Given the description of an element on the screen output the (x, y) to click on. 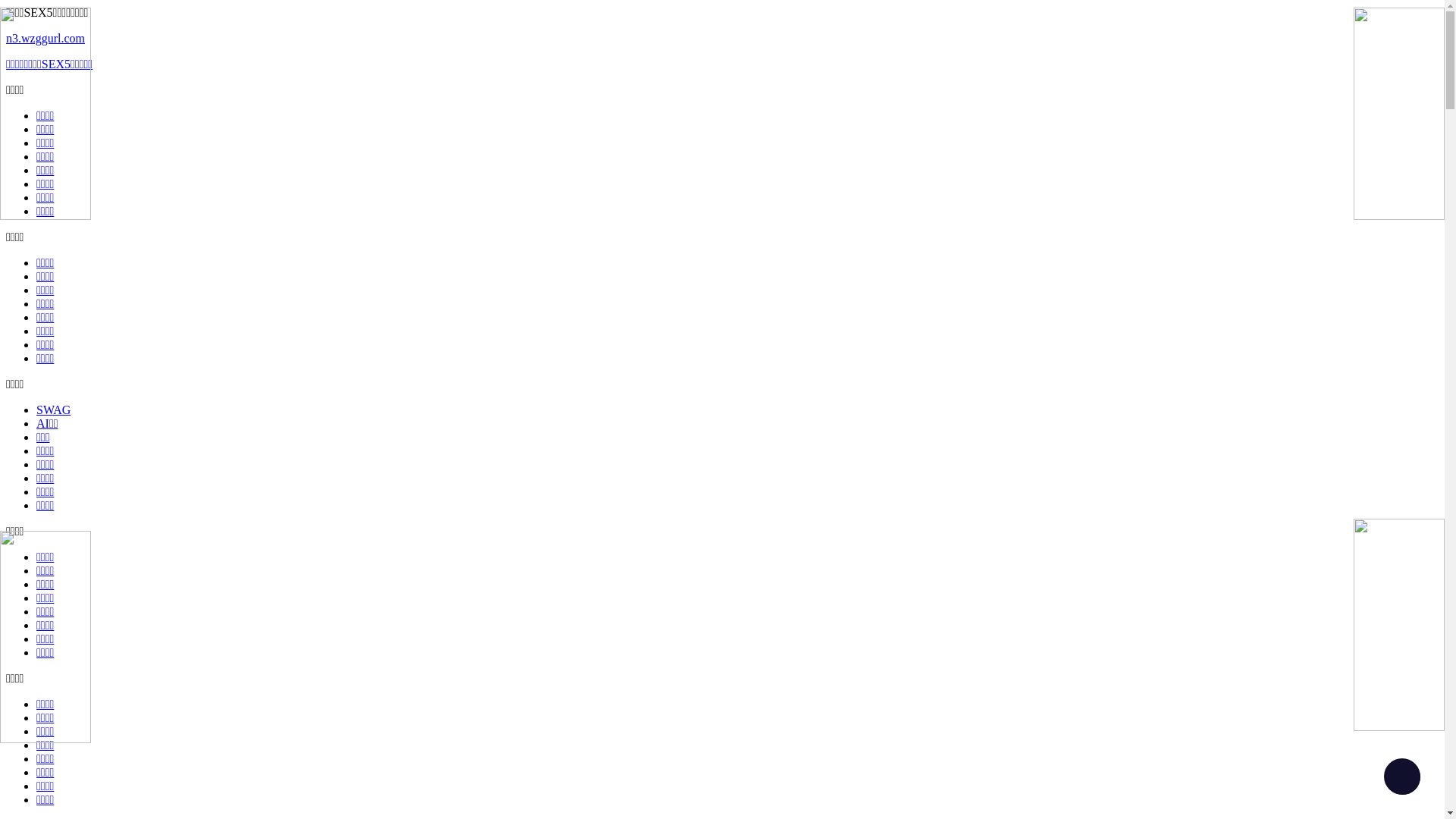
SWAG Element type: text (53, 409)
n3.wzggurl.com Element type: text (722, 38)
